Given the description of an element on the screen output the (x, y) to click on. 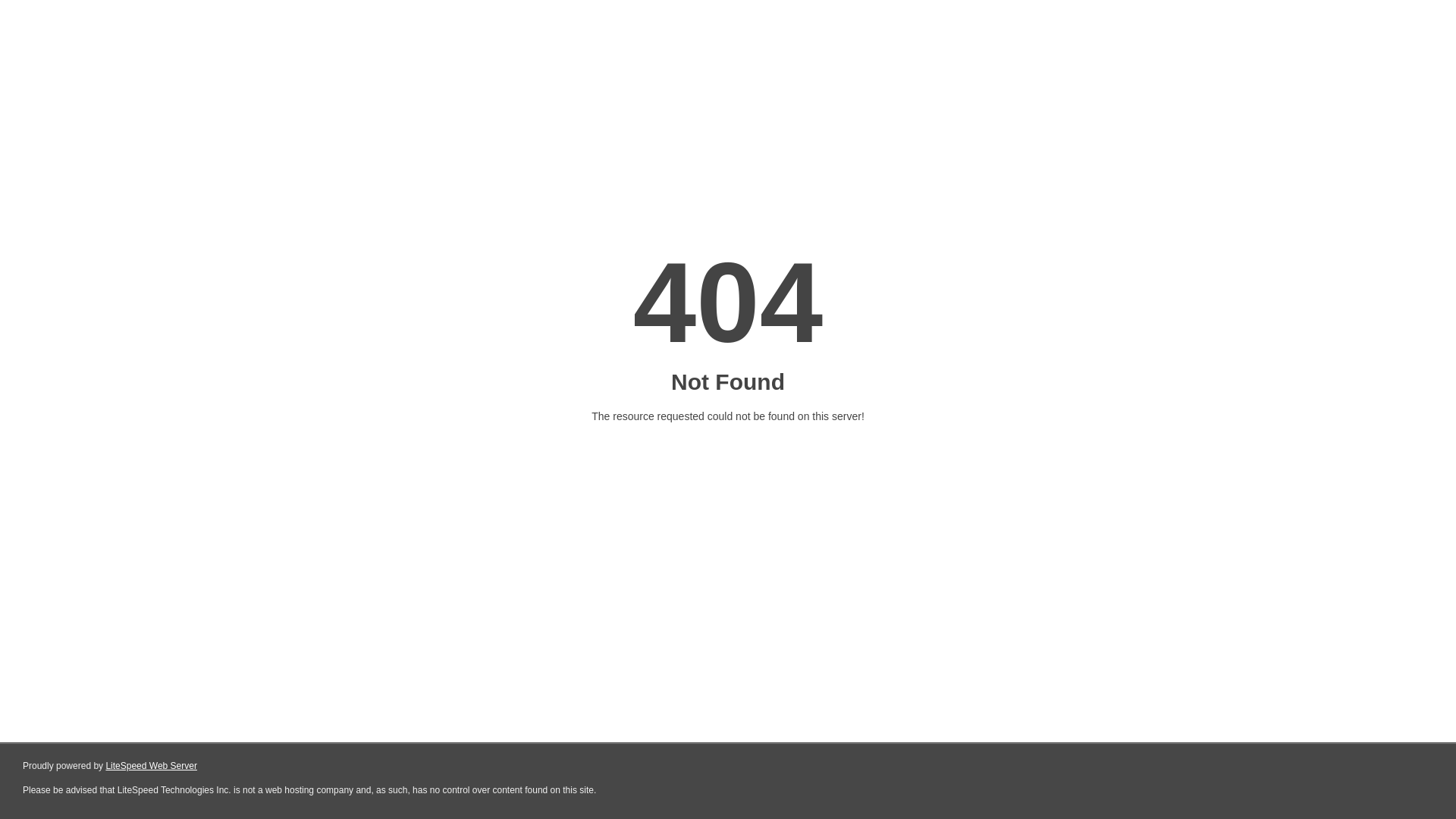
LiteSpeed Web Server Element type: text (151, 765)
